Given the description of an element on the screen output the (x, y) to click on. 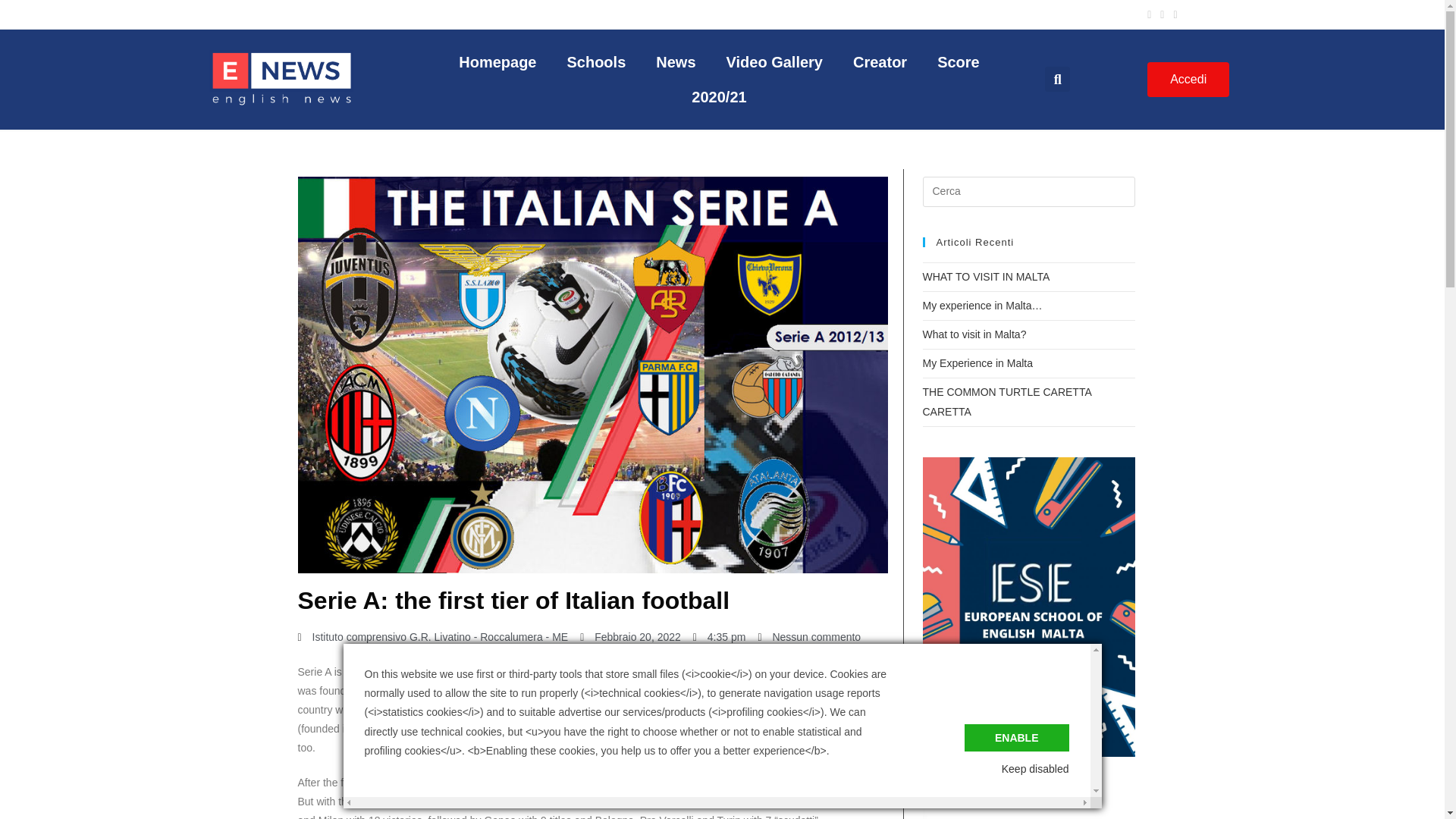
Istituto comprensivo G.R. Livatino - Roccalumera - ME (432, 637)
WHAT TO VISIT IN MALTA (985, 276)
Score (957, 62)
Homepage (497, 62)
News (675, 62)
Nessun commento (808, 637)
Febbraio 20, 2022 (630, 637)
Video Gallery (774, 62)
Schools (595, 62)
Creator (879, 62)
Accedi (1187, 79)
